Given the description of an element on the screen output the (x, y) to click on. 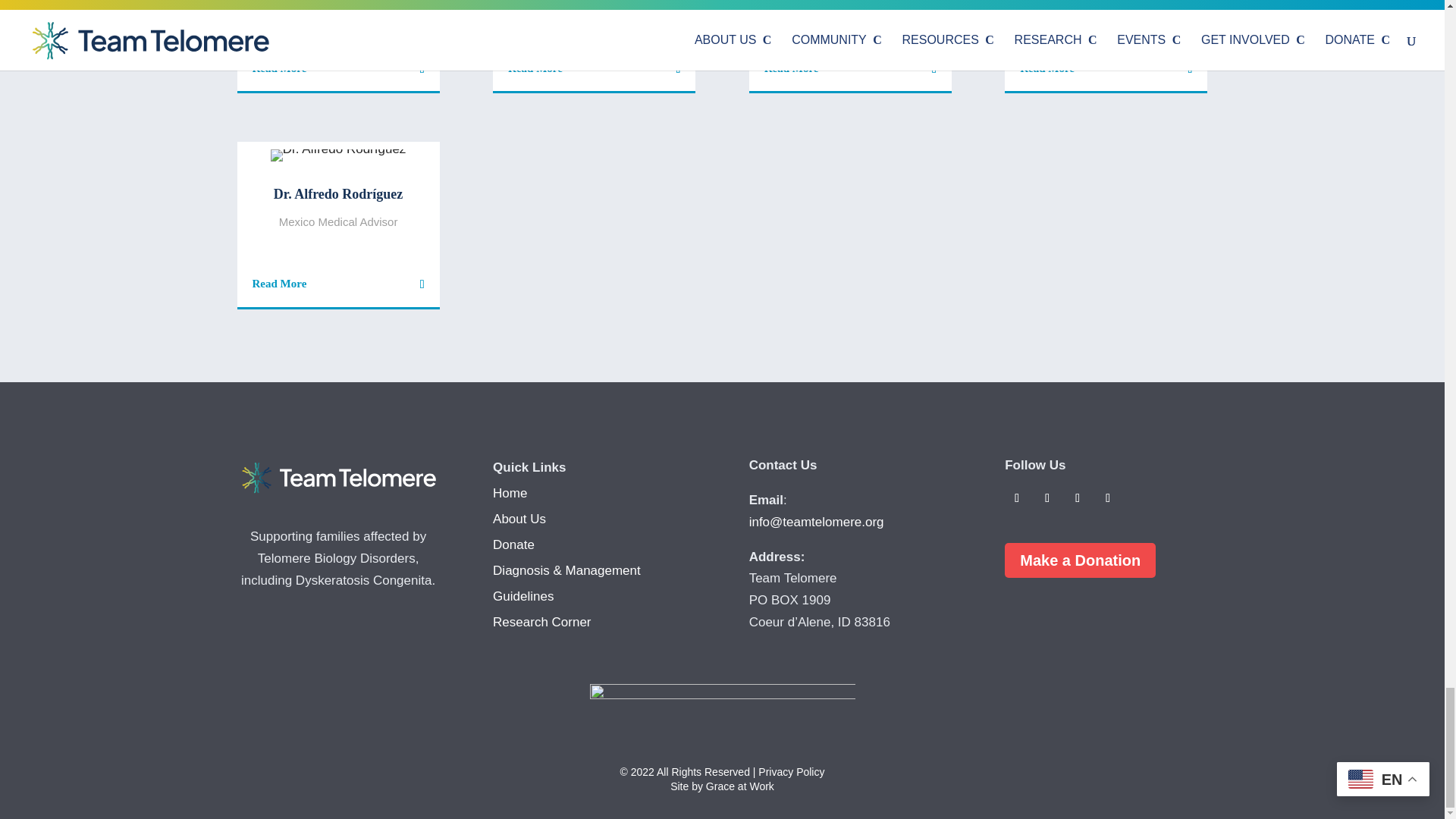
Follow on Instagram (1077, 498)
Follow on X (1047, 498)
Follow on Youtube (1107, 498)
Follow on Facebook (1016, 498)
